Given the description of an element on the screen output the (x, y) to click on. 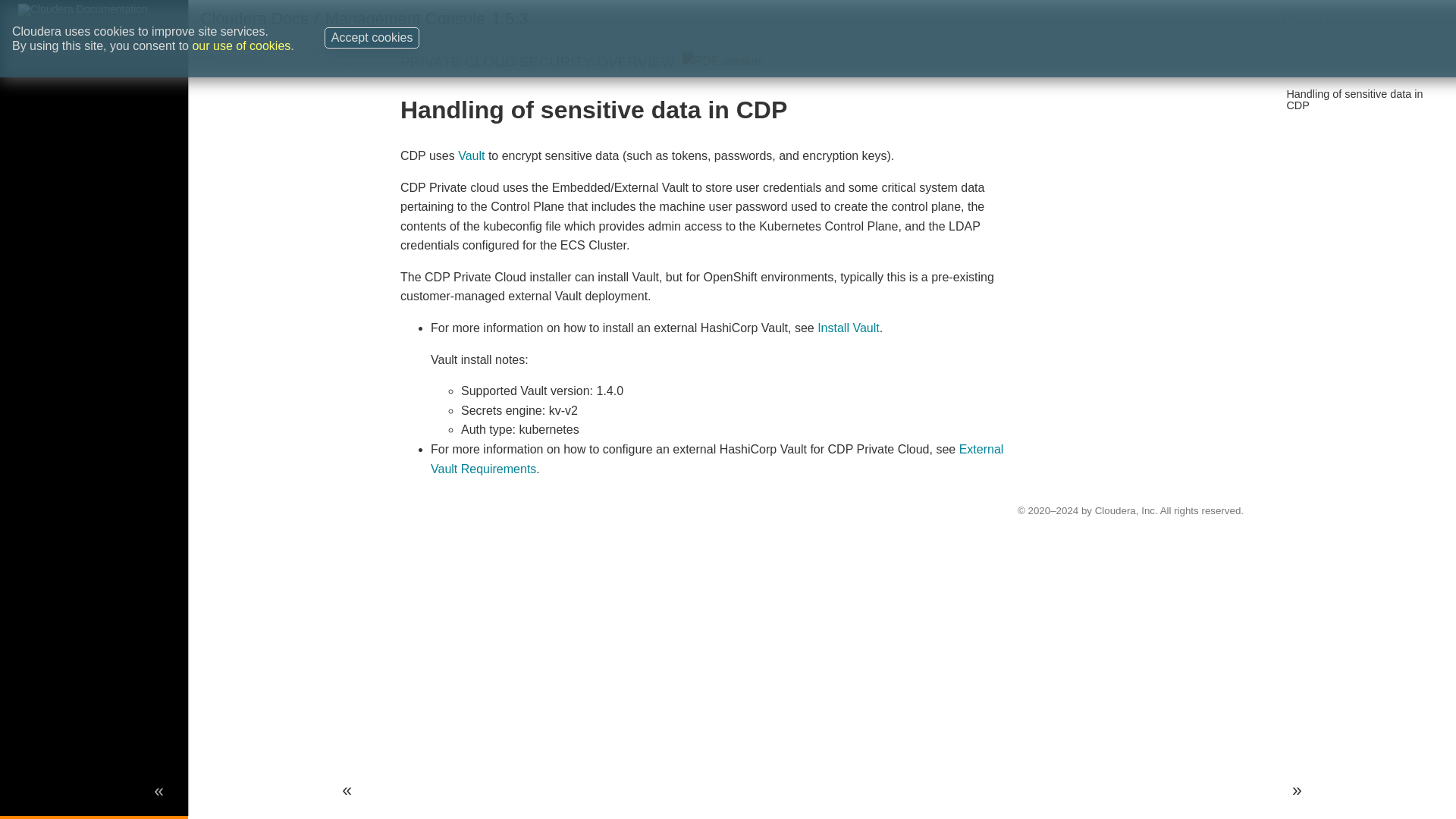
Handling of sensitive data in CDP (1353, 99)
Management Console (404, 18)
Install Vault (847, 327)
PRIVATE CLOUD SECURITY OVERVIEW (537, 61)
Vault (471, 155)
External Vault Requirements (716, 459)
Accept cookies (372, 20)
Cloudera Docs (254, 18)
our use of cookies (240, 27)
